Given the description of an element on the screen output the (x, y) to click on. 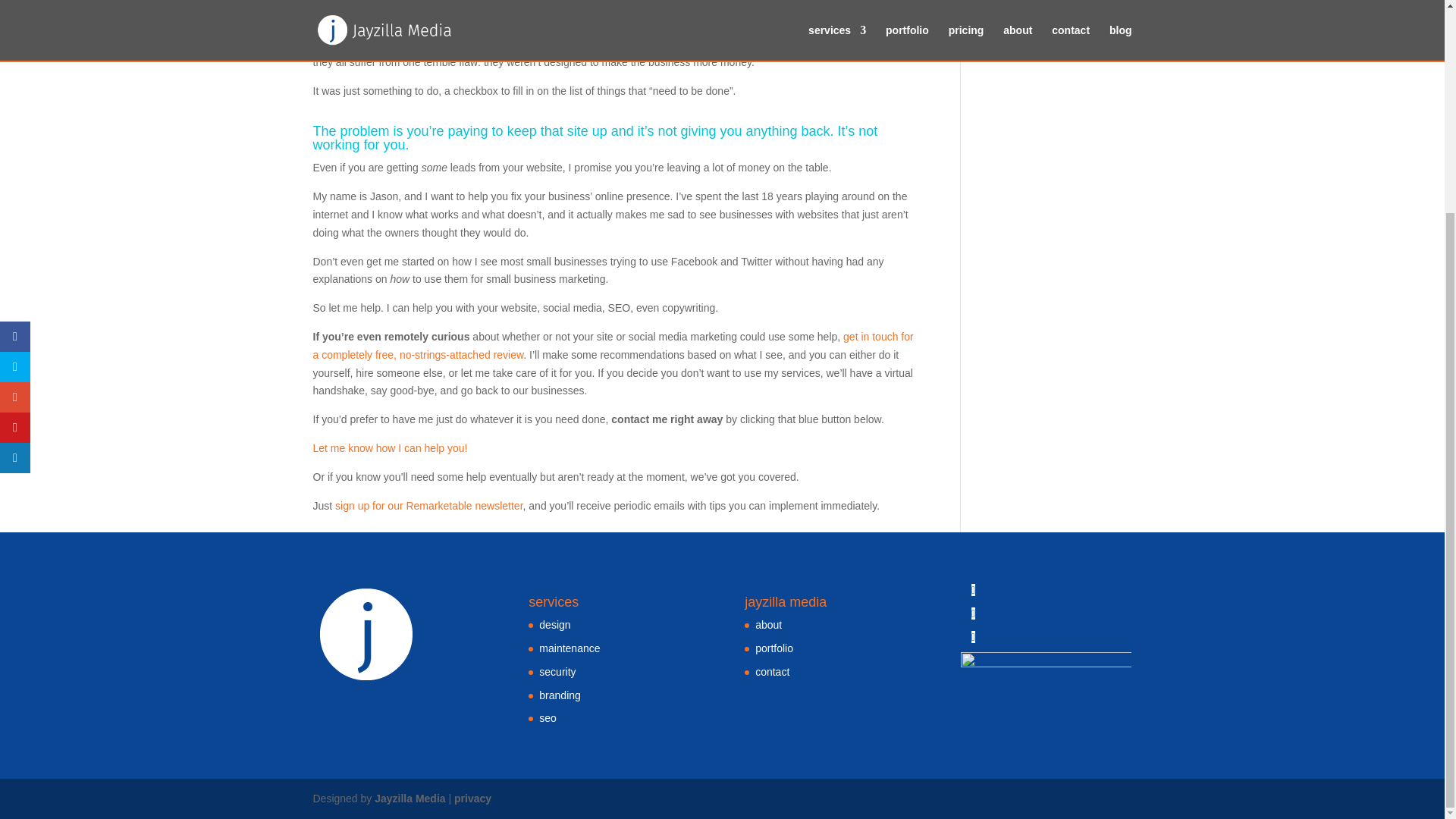
contact (772, 671)
Facebook (973, 589)
maintenance (568, 648)
seo (547, 717)
Let me know how I can help you! (390, 448)
sign up for our Remarketable newsletter (428, 505)
GooglePlus (973, 636)
security (556, 671)
Twitter (973, 613)
portfolio (774, 648)
The Dabblist (530, 6)
design (554, 624)
about (768, 624)
branding (559, 695)
